Given the description of an element on the screen output the (x, y) to click on. 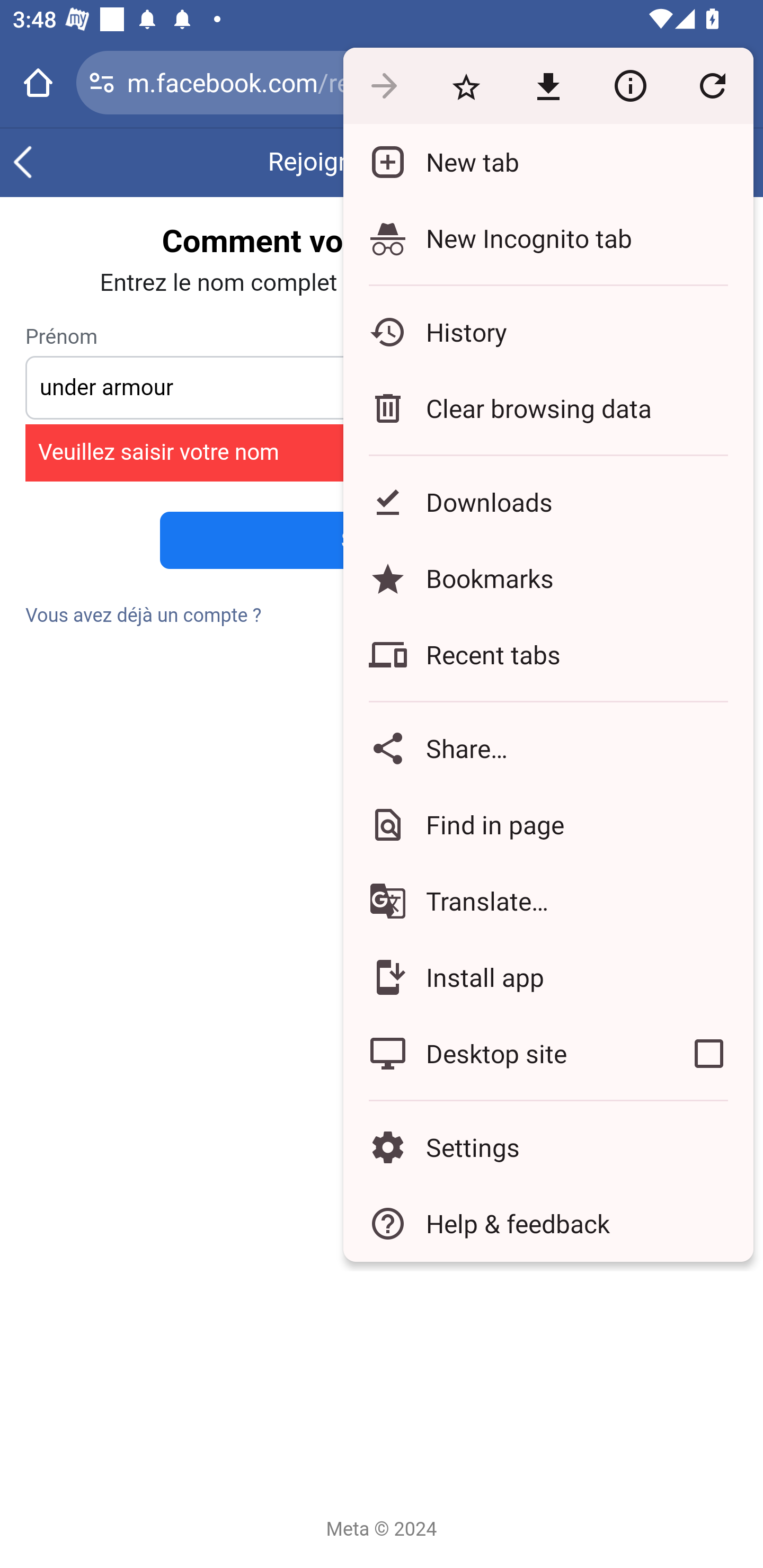
Forward (383, 85)
Bookmark (465, 85)
Download (548, 85)
Page info (630, 85)
Refresh (712, 85)
New tab (548, 161)
New Incognito tab (548, 237)
History (548, 332)
Clear browsing data (548, 408)
Downloads (548, 502)
Bookmarks (548, 578)
Recent tabs (548, 654)
Share… (548, 748)
Find in page (548, 824)
Translate… (548, 900)
Install app (548, 977)
Desktop site Turn on Request desktop site (503, 1053)
Settings (548, 1146)
Help & feedback (548, 1223)
